Given the description of an element on the screen output the (x, y) to click on. 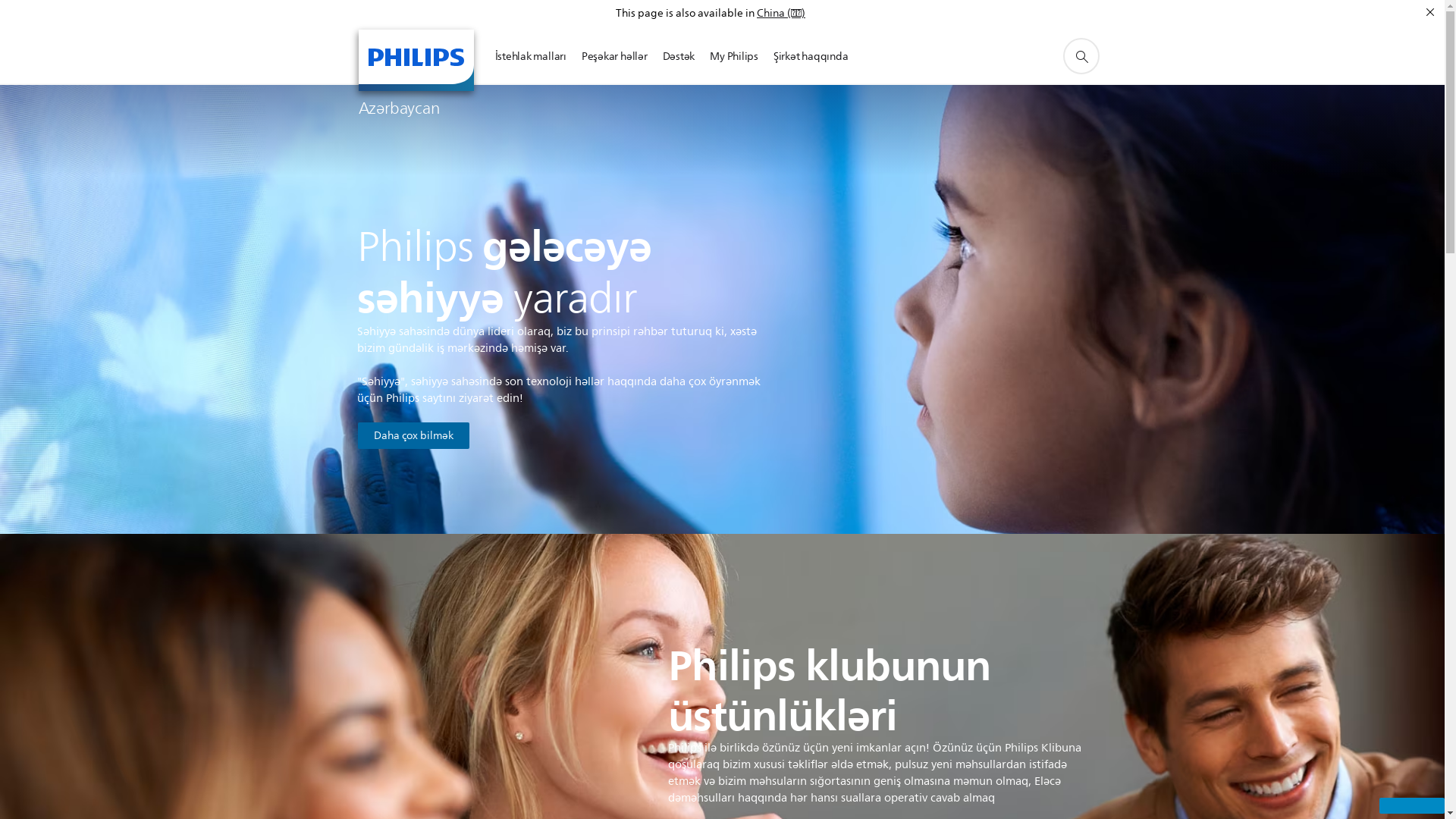
My Philips Element type: text (733, 56)
